Given the description of an element on the screen output the (x, y) to click on. 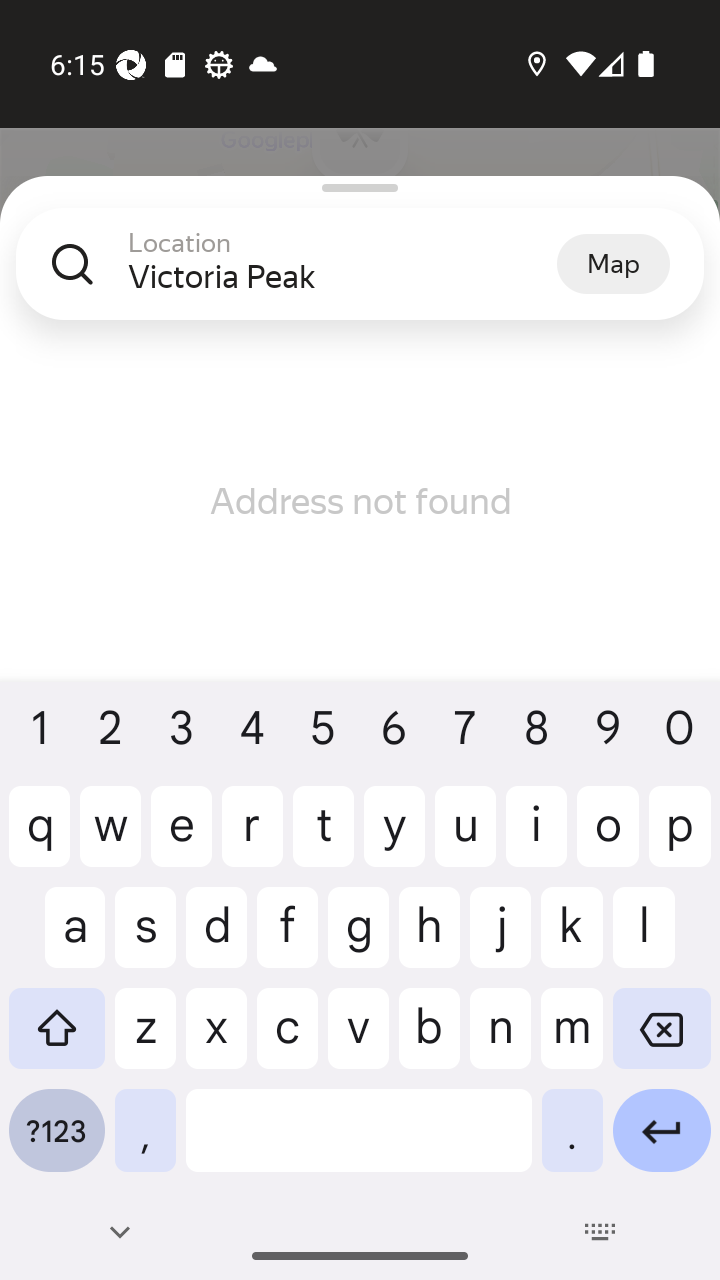
Location Victoria Peak Map (360, 280)
Map (613, 263)
Victoria Peak (341, 276)
